Given the description of an element on the screen output the (x, y) to click on. 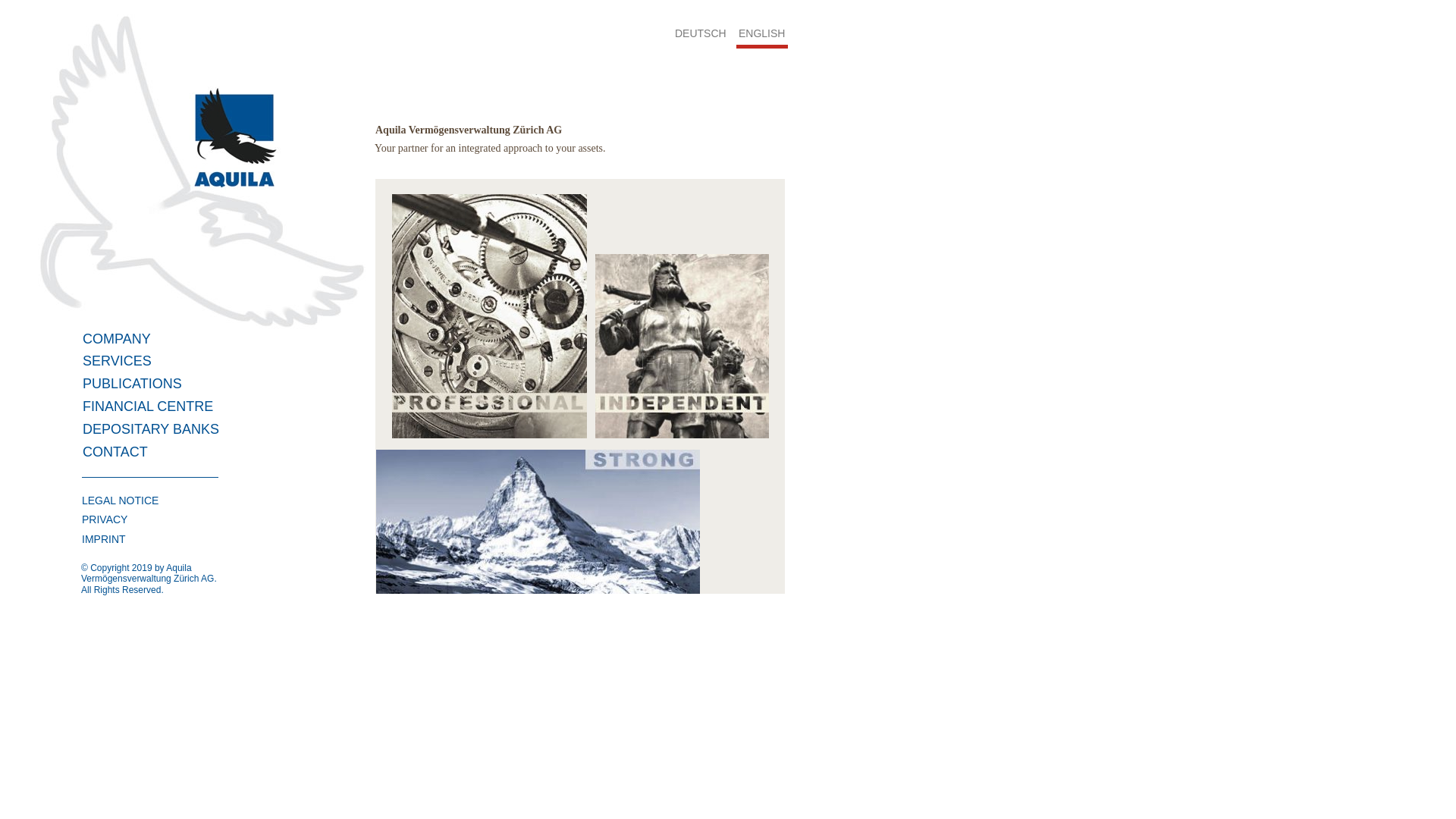
  Element type: text (1, 6)
SERVICES Element type: text (153, 360)
DEUTSCH Element type: text (700, 33)
PRIVACY Element type: text (104, 519)
SERVICES Element type: text (116, 360)
LEGAL NOTICE Element type: text (143, 500)
PUBLICATIONS Element type: text (132, 383)
PUBLICATIONS Element type: text (153, 383)
PRIVACY Element type: text (143, 519)
DEUTSCH Element type: text (705, 32)
ENGLISH Element type: text (766, 32)
COMPANY Element type: text (116, 338)
DEPOSITARY BANKS Element type: text (153, 428)
CONTACT Element type: text (153, 451)
IMPRINT Element type: text (103, 539)
FINANCIAL CENTRE Element type: text (147, 406)
CONTACT Element type: text (114, 451)
COMPANY Element type: text (153, 338)
LEGAL NOTICE Element type: text (119, 500)
FINANCIAL CENTRE Element type: text (153, 406)
DEPOSITARY BANKS Element type: text (150, 428)
ENGLISH Element type: text (761, 33)
  Element type: text (1, 592)
IMPRINT Element type: text (143, 539)
